Given the description of an element on the screen output the (x, y) to click on. 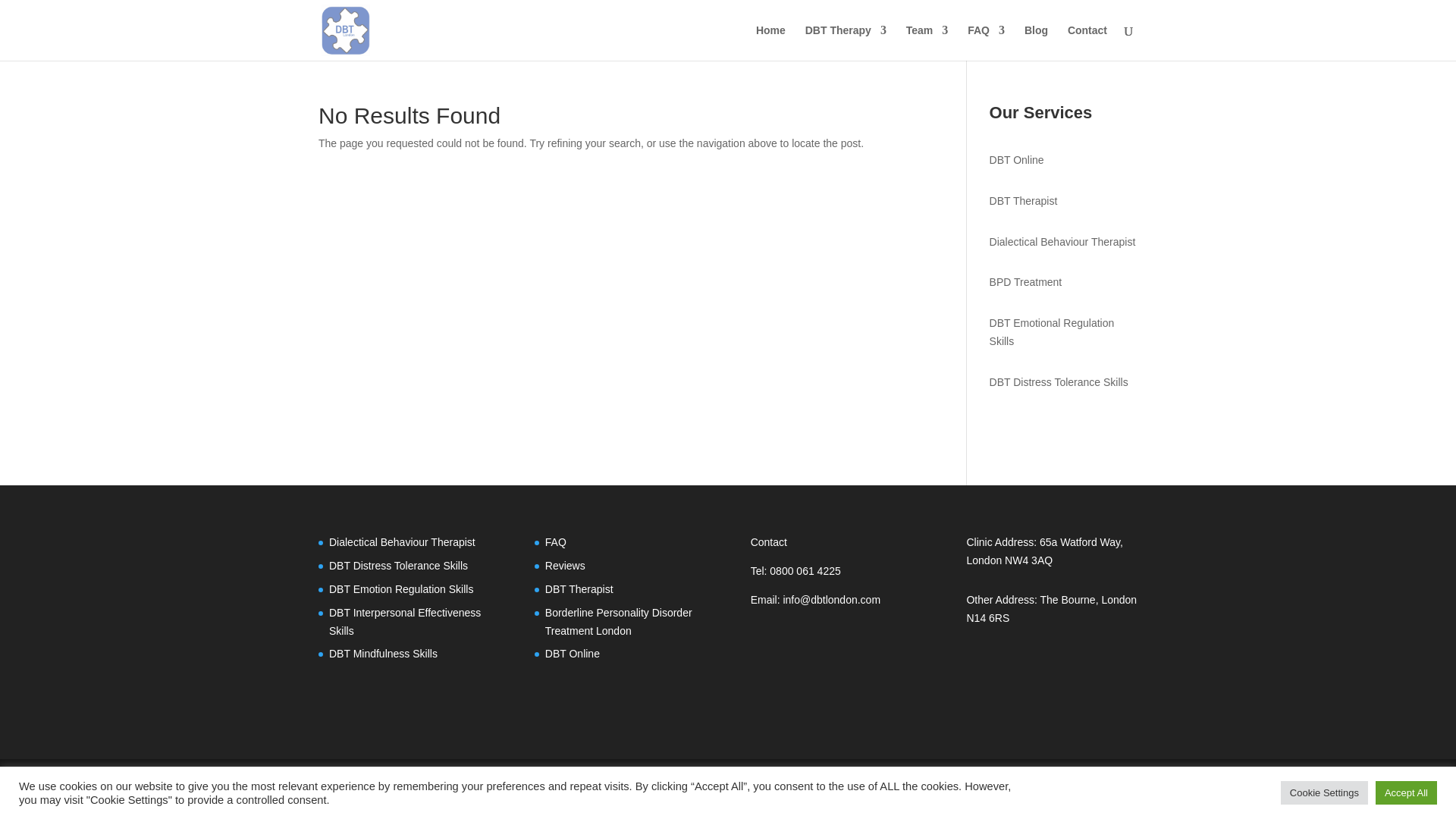
Team (927, 42)
DBT Online (1016, 159)
DBT Therapy (845, 42)
Contact (1086, 42)
Dialectical Behaviour Therapist (1062, 241)
FAQ (986, 42)
DBT Therapist (1024, 200)
